Given the description of an element on the screen output the (x, y) to click on. 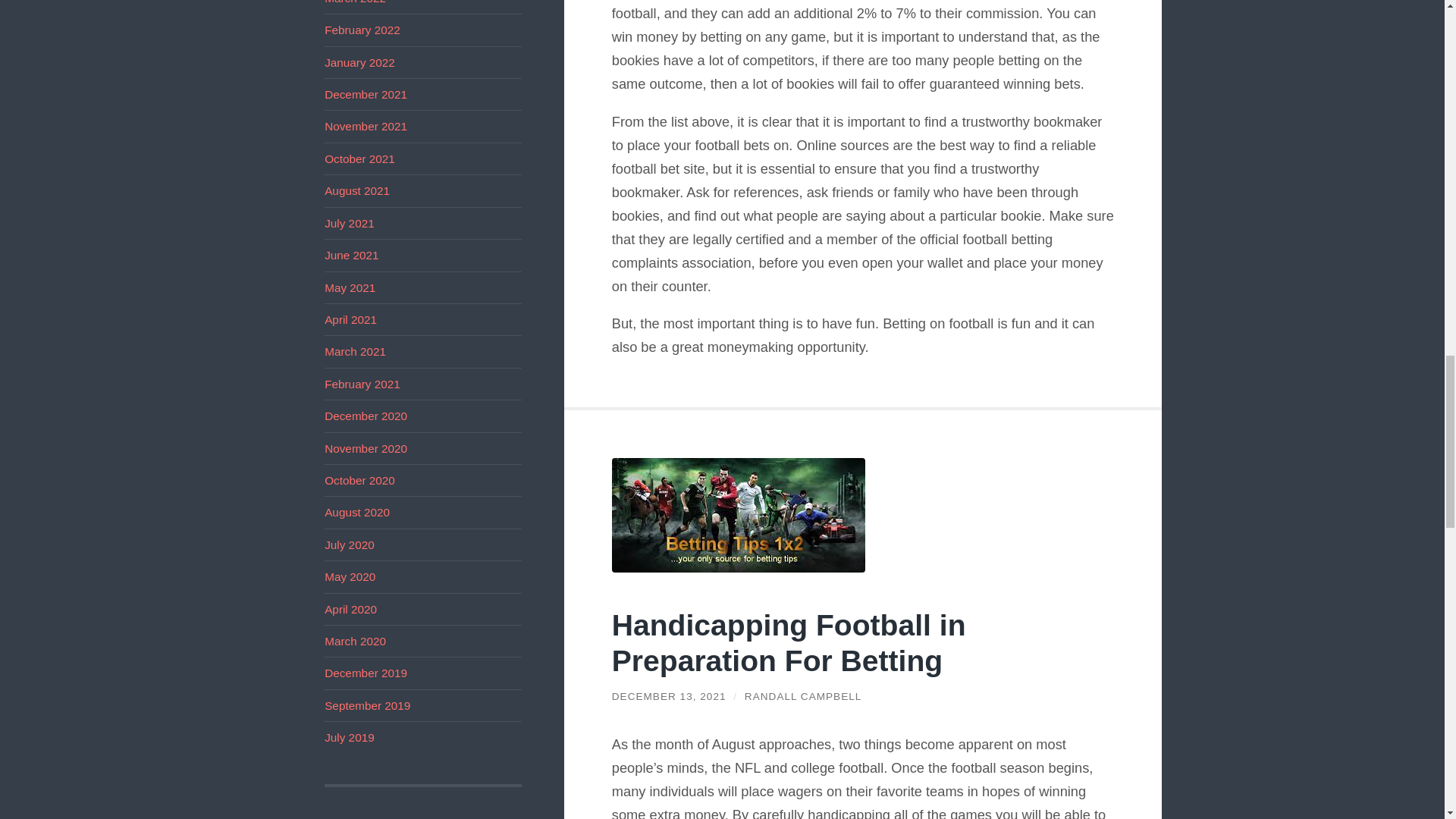
January 2022 (359, 62)
December 2021 (365, 93)
October 2021 (359, 158)
February 2022 (362, 29)
August 2021 (357, 190)
Posts by Randall Campbell (802, 696)
November 2021 (365, 125)
March 2022 (354, 2)
